Given the description of an element on the screen output the (x, y) to click on. 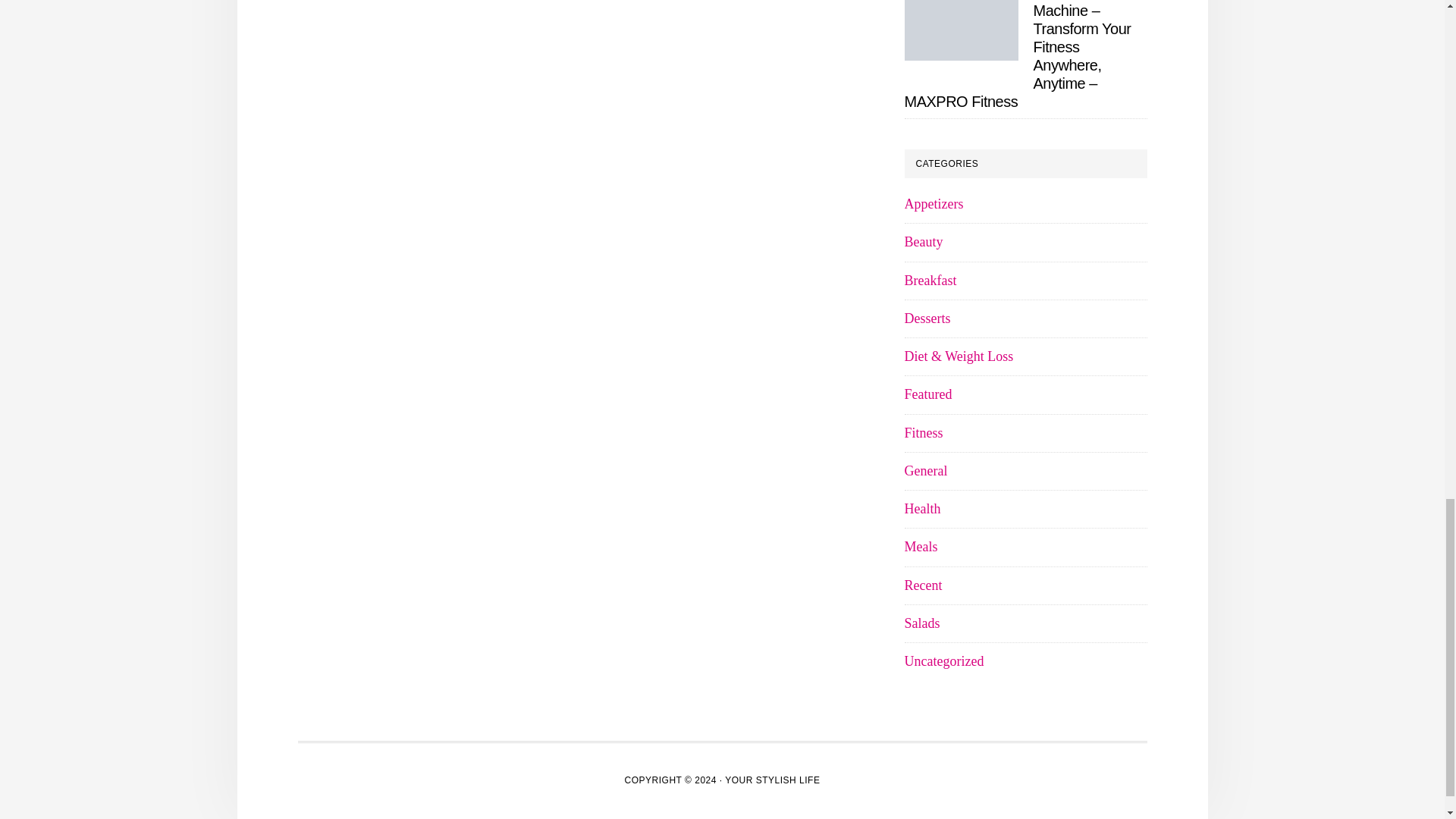
Recent (923, 585)
Health (922, 508)
Meals (920, 546)
Breakfast (930, 280)
Desserts (927, 318)
Appetizers (933, 203)
Featured (928, 394)
General (925, 470)
Fitness (923, 432)
Beauty (923, 241)
